Given the description of an element on the screen output the (x, y) to click on. 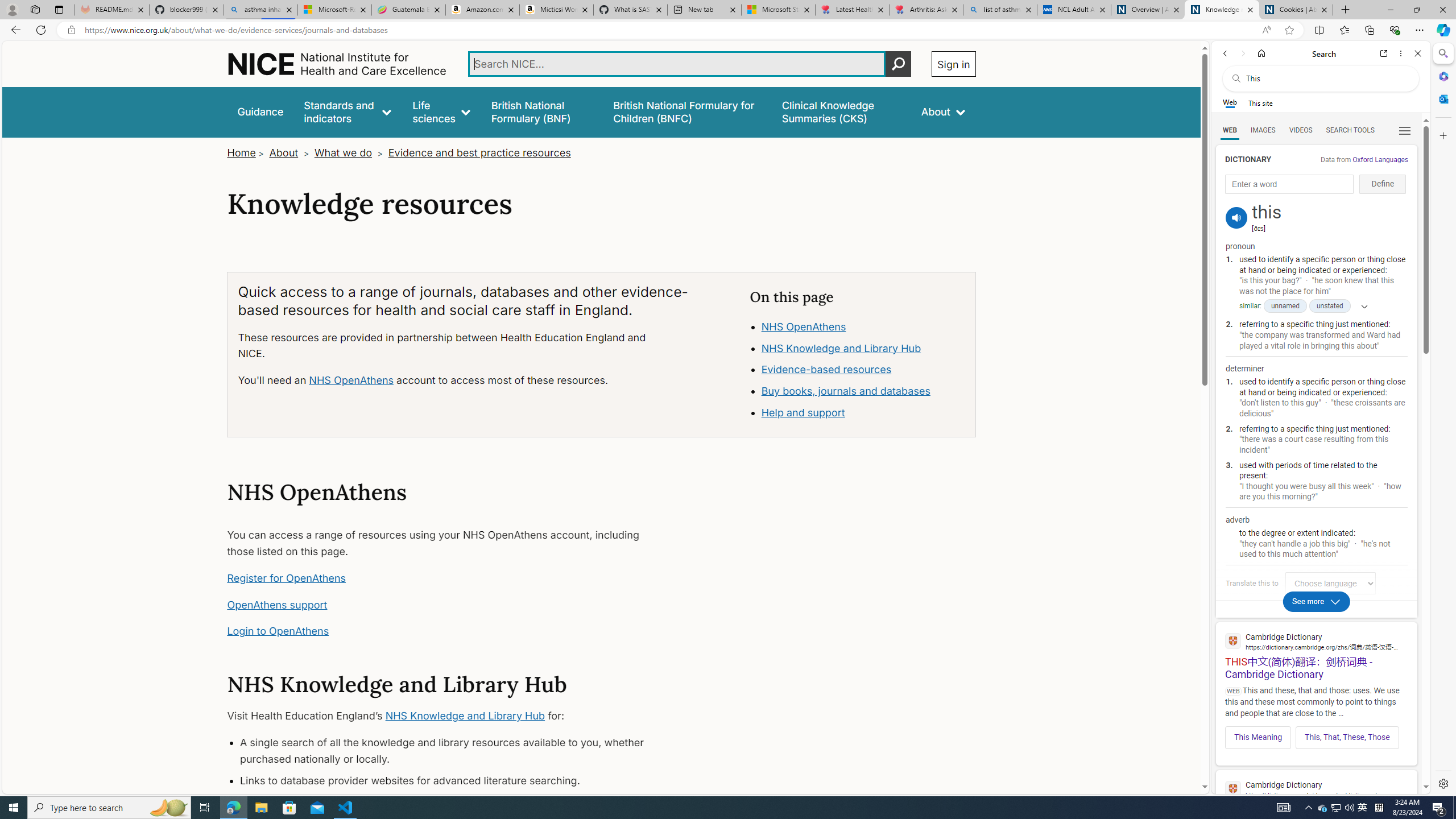
Home> (246, 152)
Guidance (260, 111)
NHS Knowledge and Library Hub (863, 348)
